Given the description of an element on the screen output the (x, y) to click on. 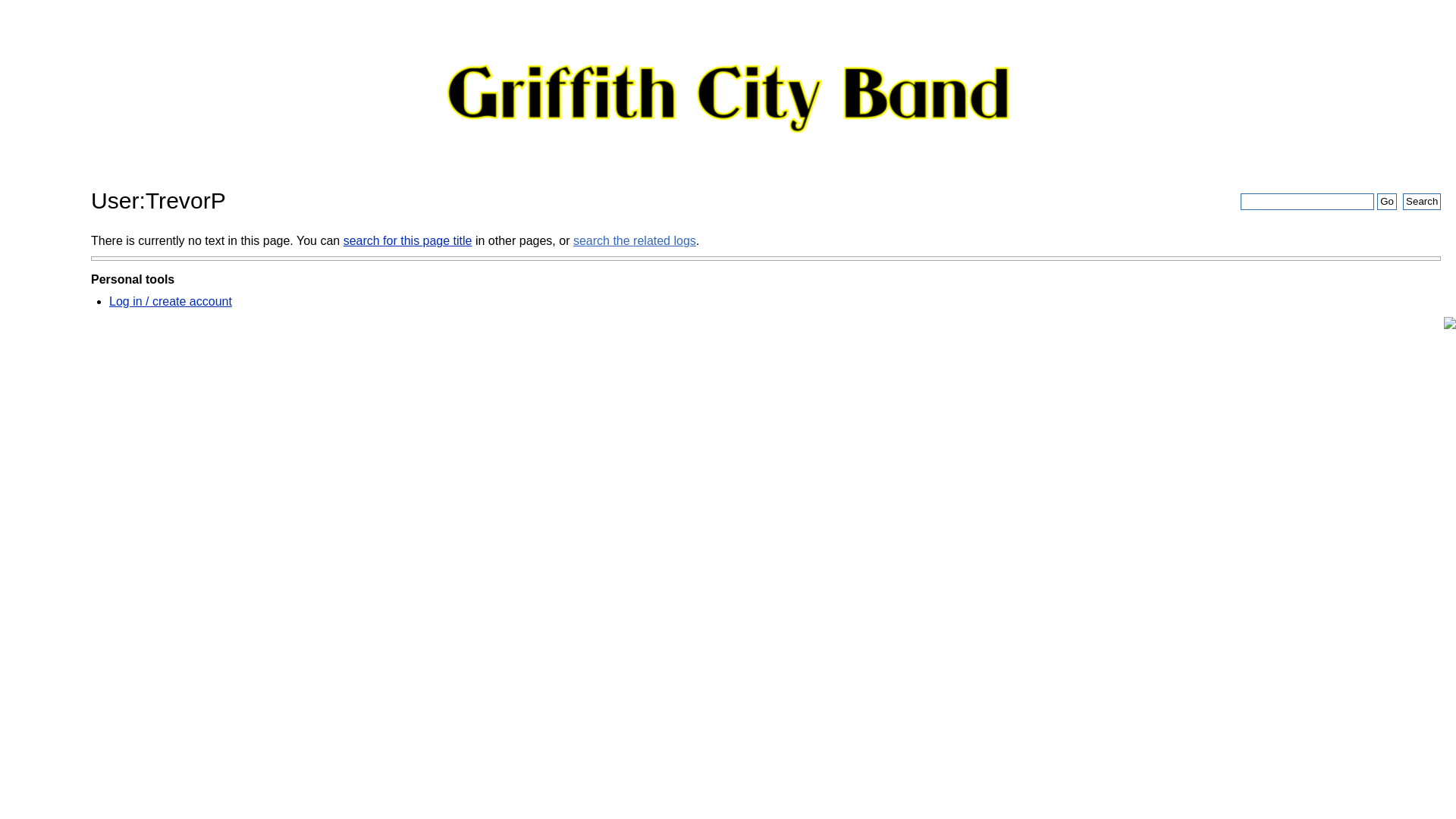
Search Element type: text (1421, 201)
search for this page title Element type: text (407, 240)
Log in / create account Element type: text (170, 300)
Go Element type: text (1386, 201)
Go to a page with this exact name if exists Element type: hover (1386, 201)
Search Griffith City Band [f] Element type: hover (1307, 201)
search the related logs Element type: text (634, 240)
Search the pages for this text Element type: hover (1421, 201)
